Given the description of an element on the screen output the (x, y) to click on. 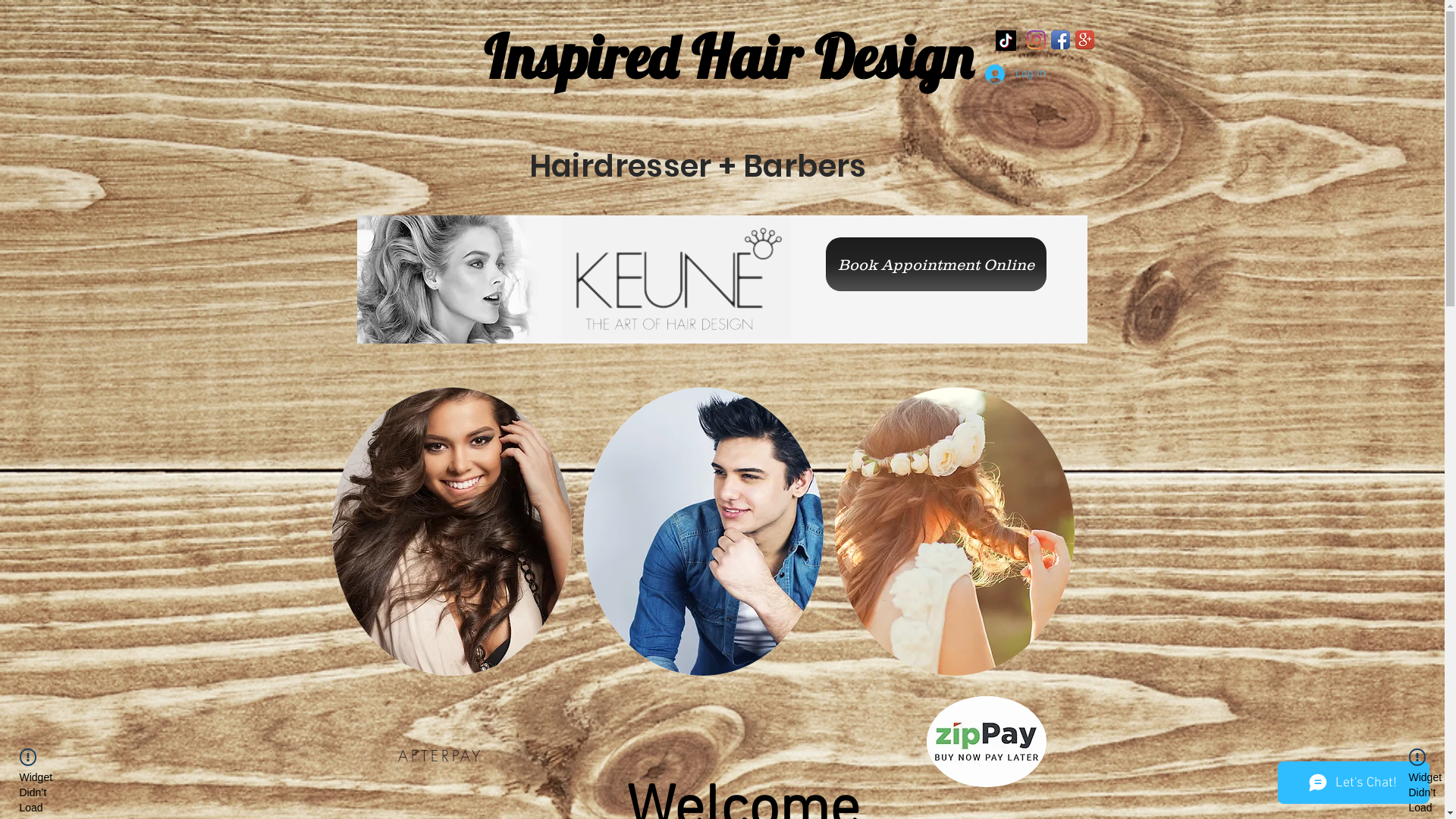
Book Appointment Online Element type: text (935, 264)
AFTERPAY Element type: text (440, 755)
Inspired Hair Design Element type: text (727, 56)
Log In Element type: text (1014, 73)
